Given the description of an element on the screen output the (x, y) to click on. 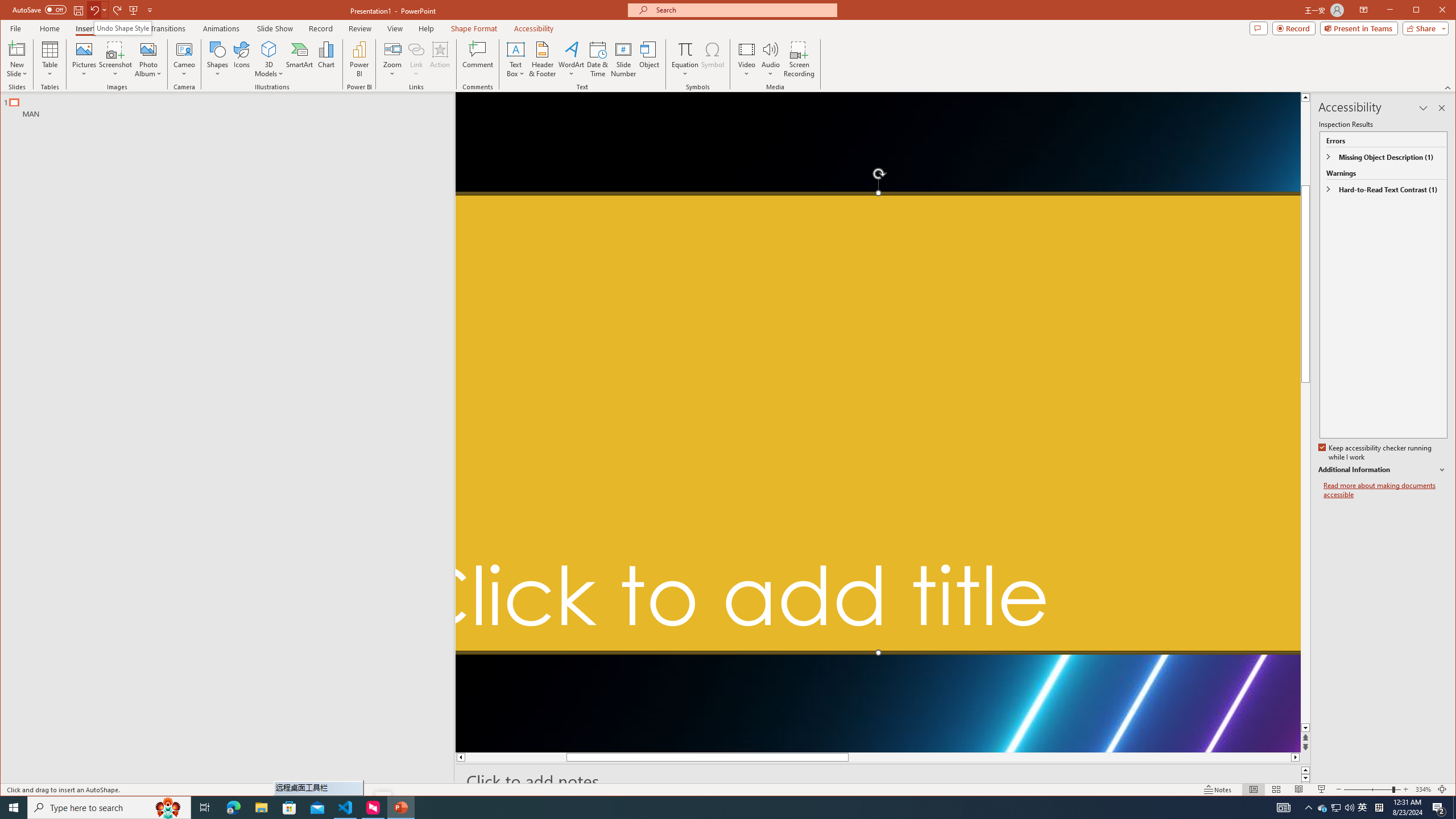
Normal (1253, 789)
Zoom to Fit  (1441, 789)
Pictures (84, 59)
Keep accessibility checker running while I work (1375, 452)
Undo Shape Style (122, 28)
Search highlights icon opens search home window (167, 807)
Type here to search (108, 807)
Collapse the Ribbon (1448, 87)
Microsoft Store (289, 807)
From Beginning (133, 9)
Link (416, 59)
Close (1444, 11)
Running applications (700, 807)
Shapes (217, 59)
Photo Album... (148, 59)
